Given the description of an element on the screen output the (x, y) to click on. 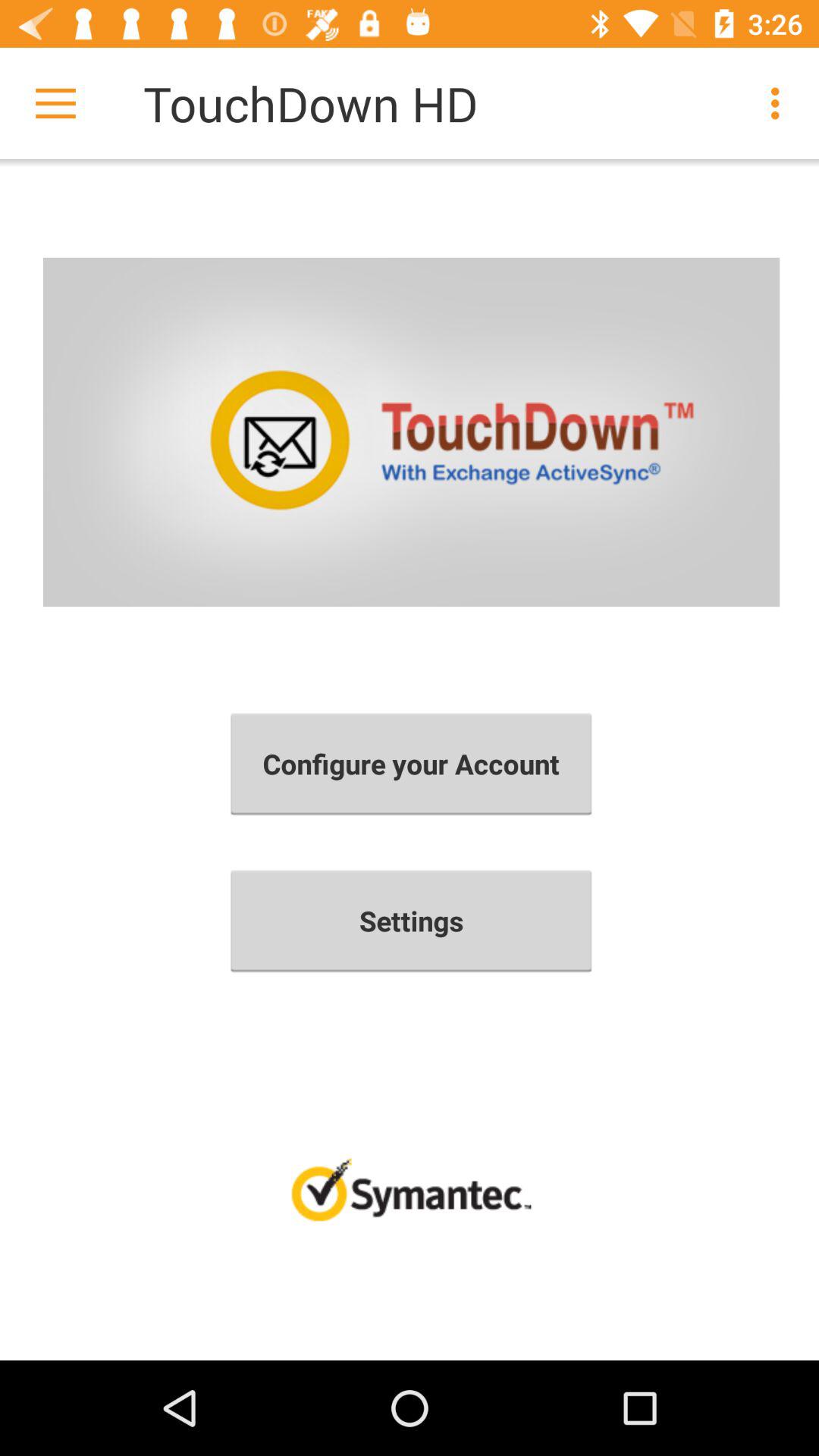
tap configure your account item (410, 763)
